Given the description of an element on the screen output the (x, y) to click on. 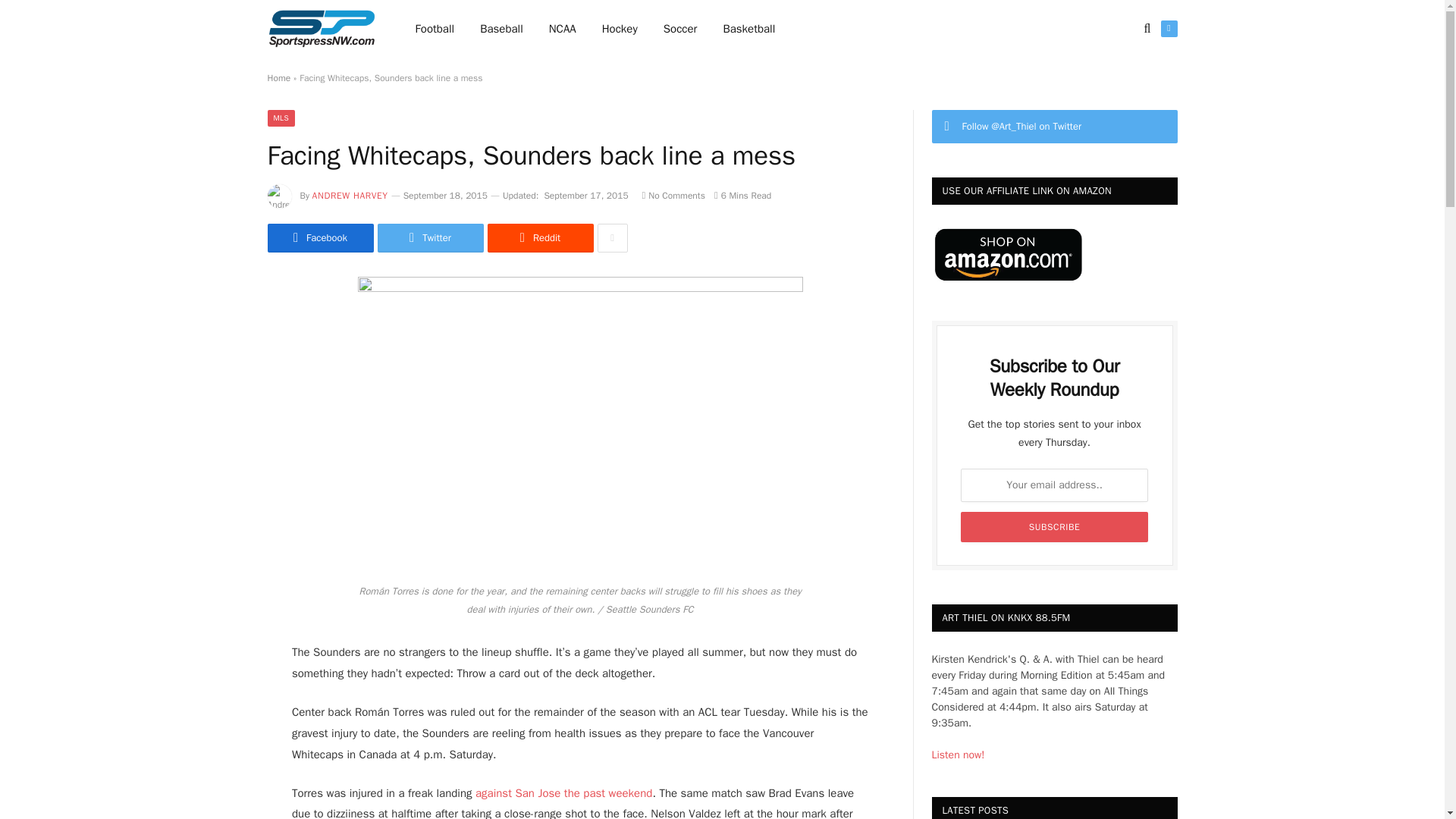
Share on Reddit (539, 237)
against San Jose the past weekend (564, 793)
NCAA (562, 28)
ANDREW HARVEY (350, 195)
Hockey (619, 28)
Soccer (680, 28)
Show More Social Sharing (611, 237)
Football (435, 28)
Facebook (319, 237)
Subscribe (1053, 526)
